Given the description of an element on the screen output the (x, y) to click on. 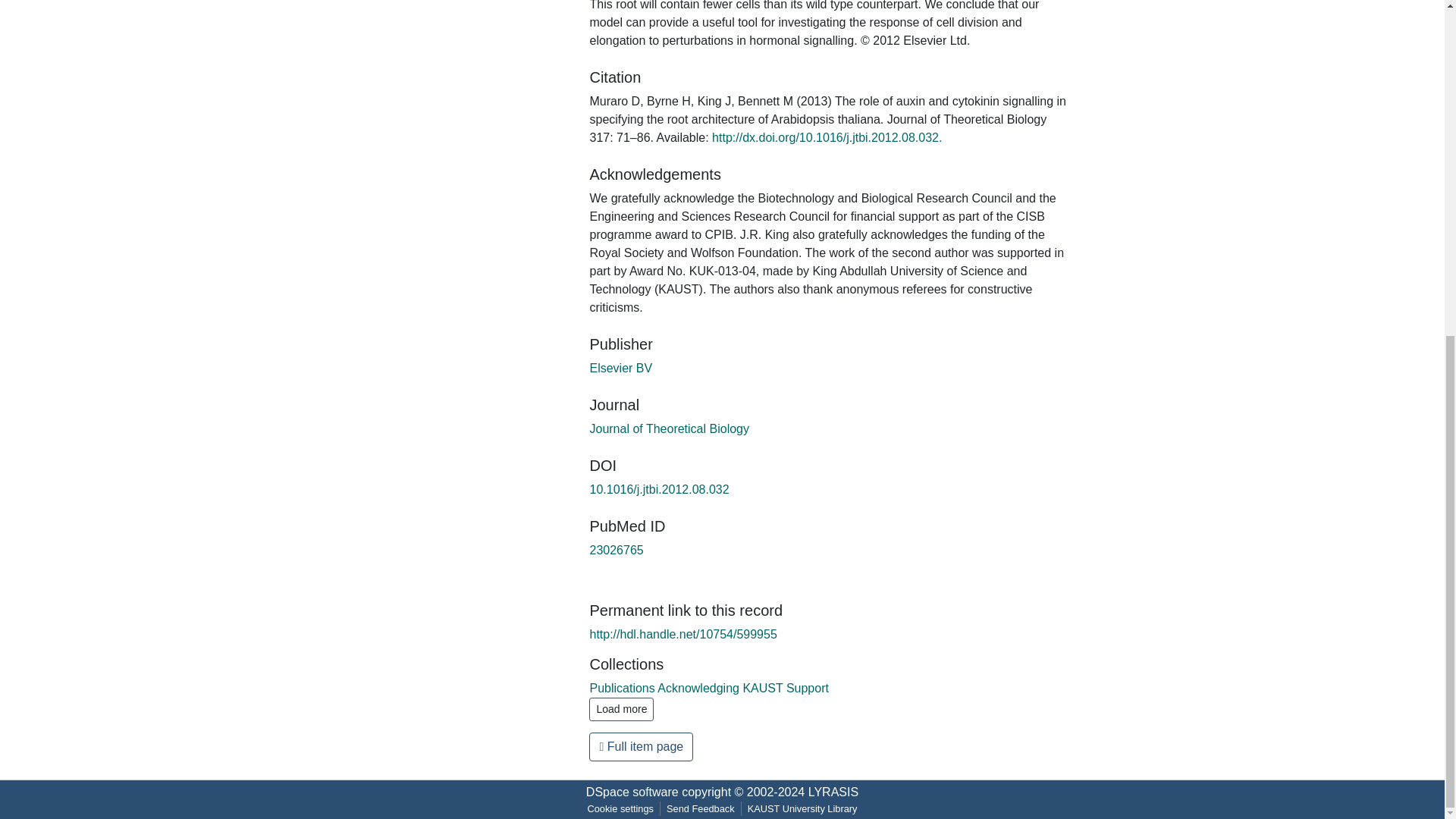
Cookie settings (619, 807)
Journal of Theoretical Biology (669, 427)
Full item page (641, 746)
Publications Acknowledging KAUST Support (708, 686)
Elsevier BV (620, 367)
KAUST University Library (802, 807)
DSpace software (632, 791)
Load more (621, 709)
Send Feedback (701, 807)
23026765 (616, 549)
